Given the description of an element on the screen output the (x, y) to click on. 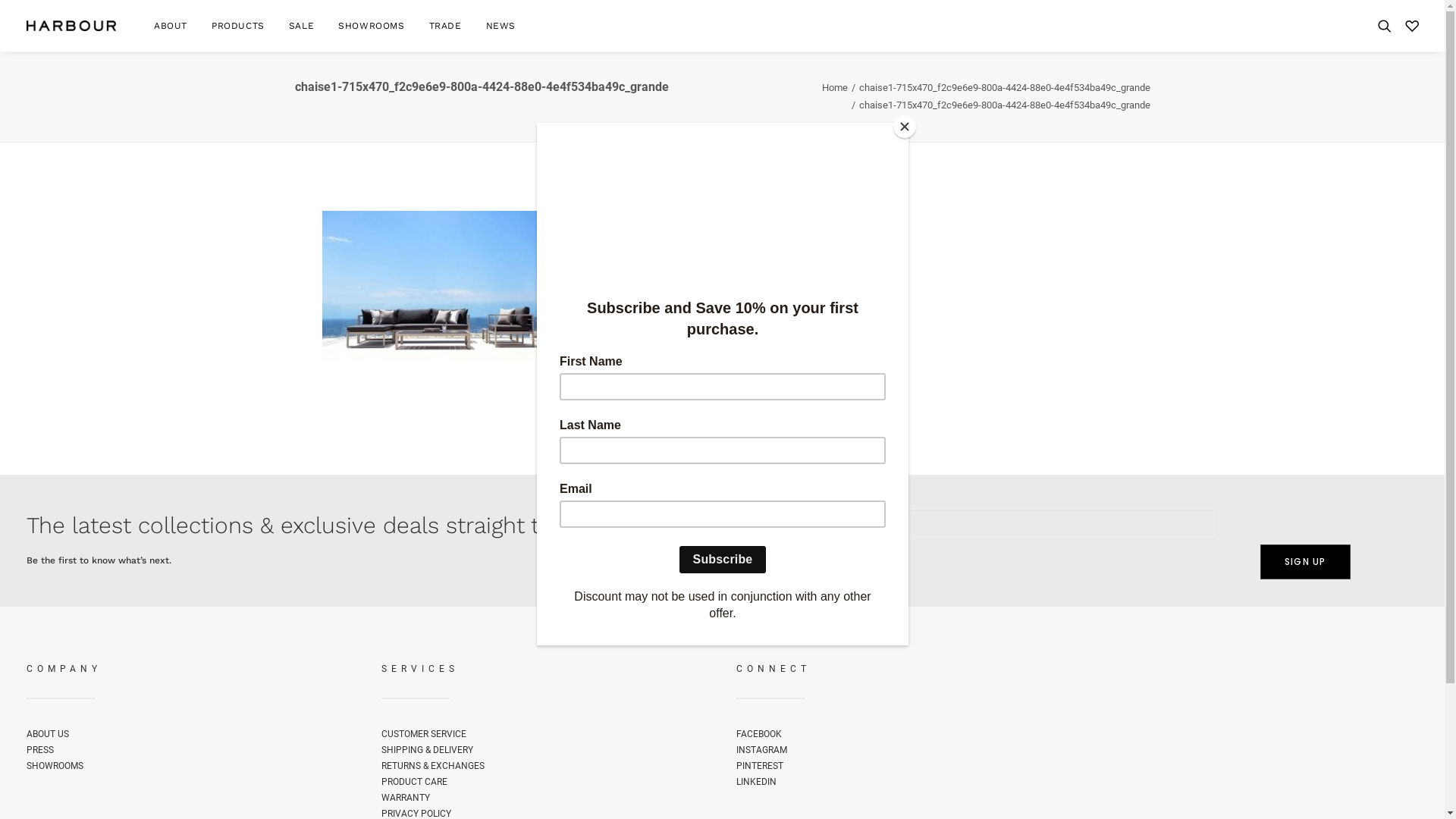
SALE Element type: text (301, 25)
chaise1-715x470_f2c9e6e9-800a-4424-88e0-4e4f534ba49c_grande Element type: text (1003, 87)
FACEBOOK Element type: text (758, 733)
wishlist Element type: hover (1408, 25)
PRESS Element type: text (39, 749)
PRODUCT CARE Element type: text (413, 781)
LINKEDIN Element type: text (755, 781)
ABOUT US Element type: text (46, 733)
INSTAGRAM Element type: text (760, 749)
PINTEREST Element type: text (758, 764)
ABOUT Element type: text (170, 25)
RETURNS & EXCHANGES Element type: text (431, 764)
SHOWROOMS Element type: text (53, 764)
SHOWROOMS Element type: text (370, 25)
NEWS Element type: text (495, 25)
PRODUCTS Element type: text (237, 25)
TRADE Element type: text (445, 25)
CUSTOMER SERVICE Element type: text (422, 733)
SHIPPING & DELIVERY Element type: text (426, 749)
WARRANTY Element type: text (404, 796)
SIGN UP Element type: text (1304, 561)
Home Element type: text (834, 87)
